Given the description of an element on the screen output the (x, y) to click on. 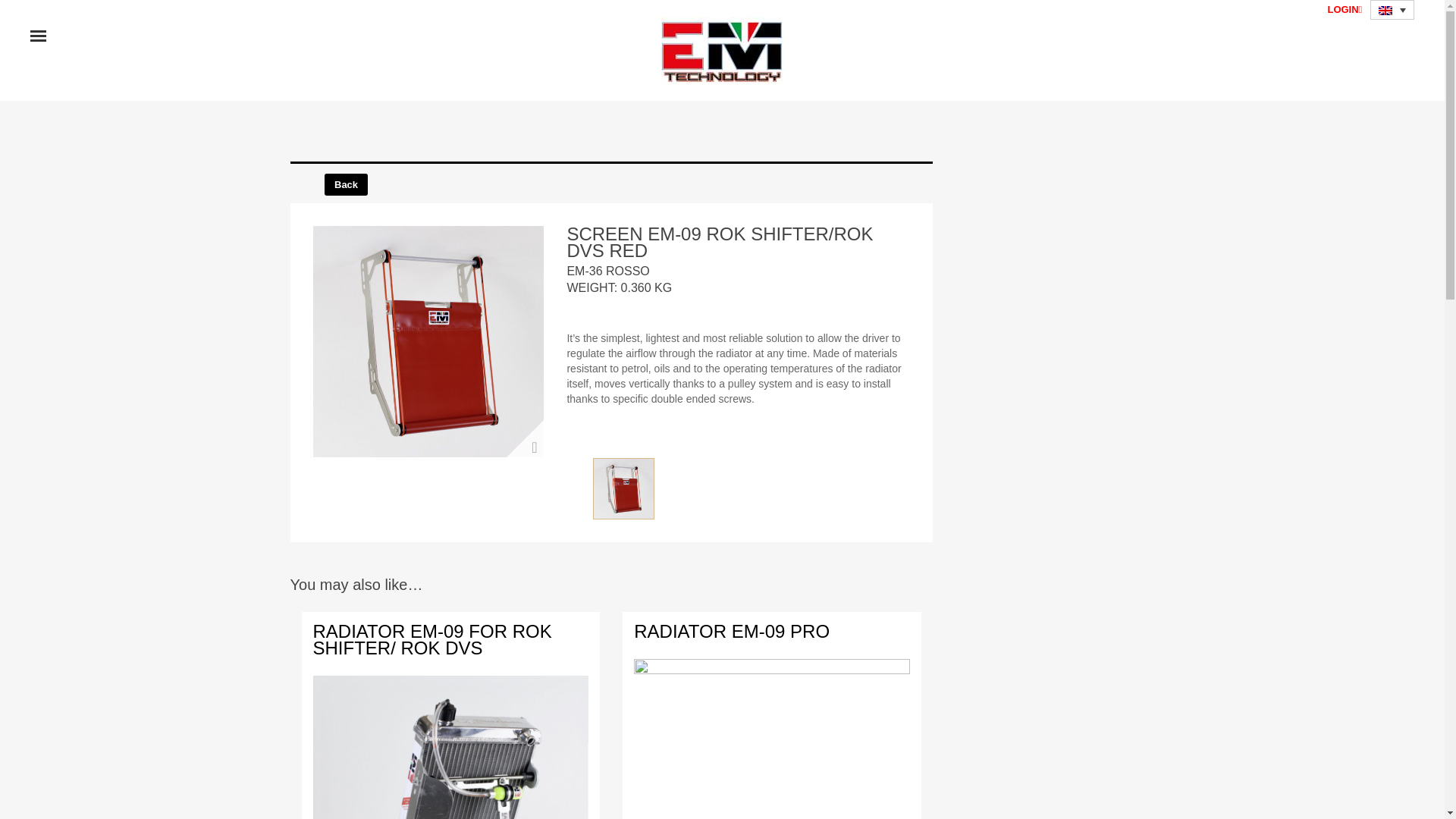
RADIATOR EM-09 PRO (731, 630)
English (1384, 10)
Em Technology (722, 49)
Back (346, 184)
LOGIN (1343, 9)
